Given the description of an element on the screen output the (x, y) to click on. 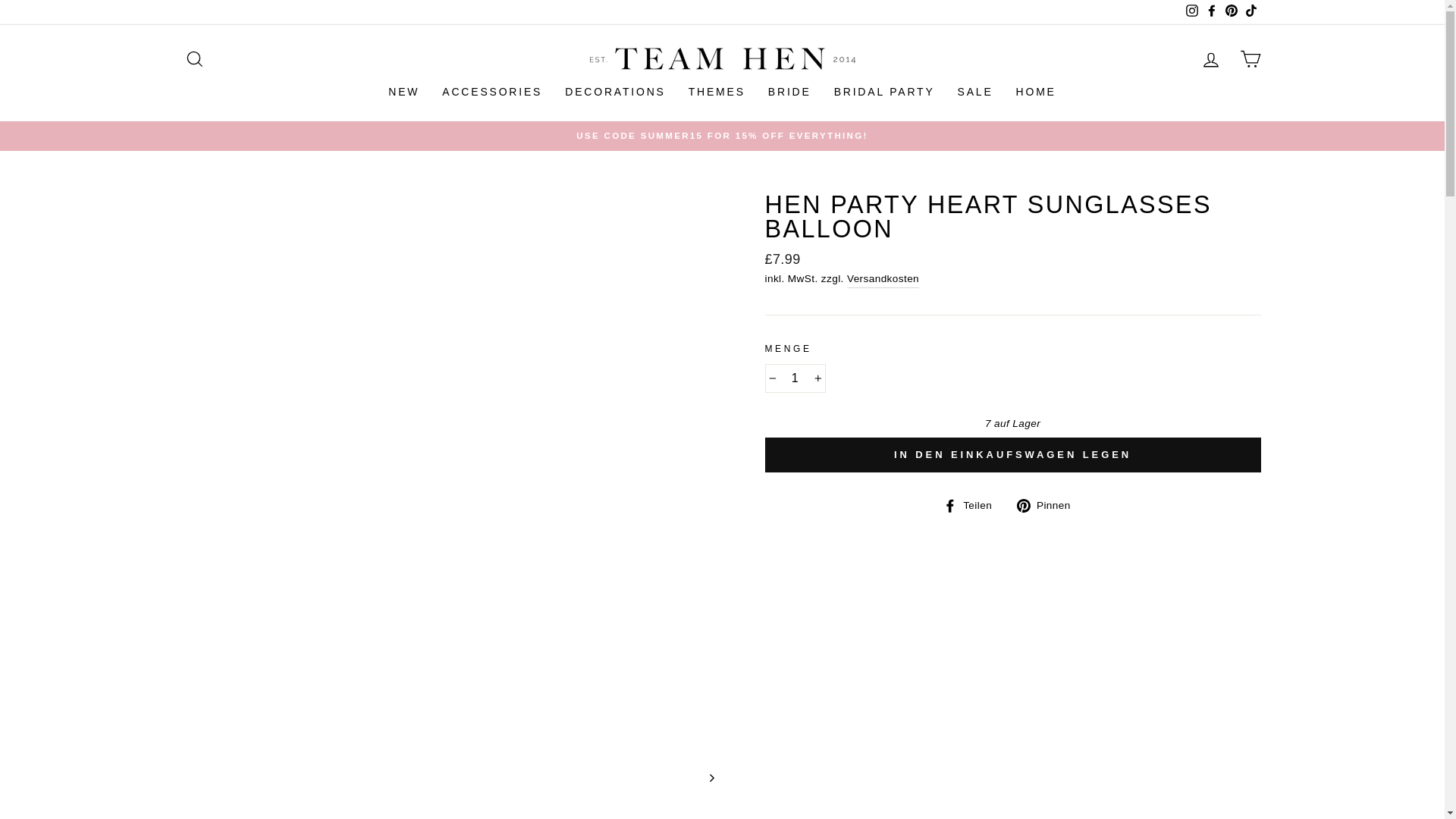
1 (794, 378)
Auf Pinterest pinnen (1048, 505)
Auf Facebook teilen (973, 505)
